Given the description of an element on the screen output the (x, y) to click on. 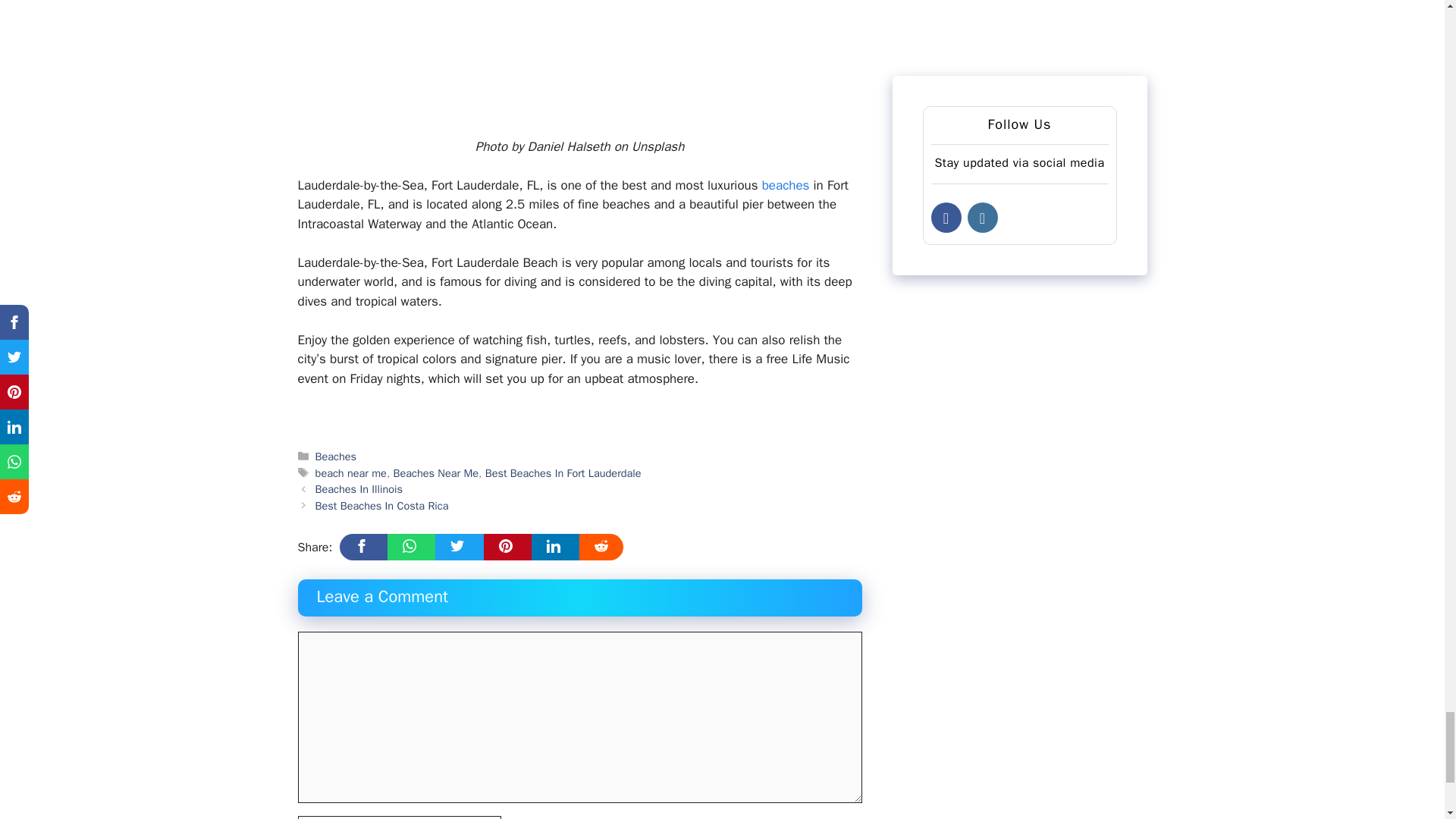
Best Beaches In Fort Lauderdale 11 (579, 56)
